Given the description of an element on the screen output the (x, y) to click on. 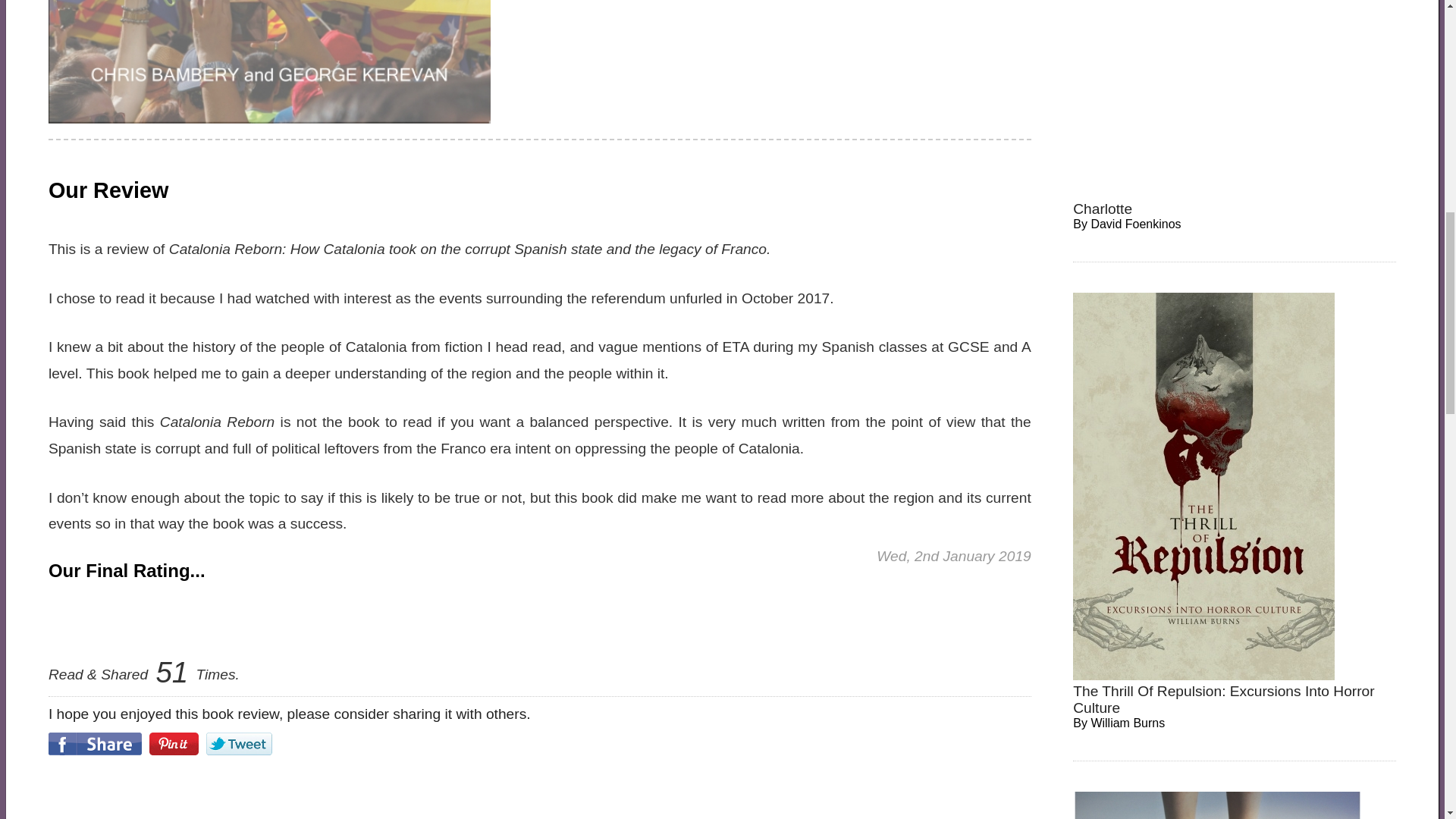
Pin It (173, 743)
Like (94, 743)
Charlotte (1102, 208)
Tweet (239, 743)
The Thrill Of Repulsion: Excursions Into Horror Culture (1223, 699)
